Given the description of an element on the screen output the (x, y) to click on. 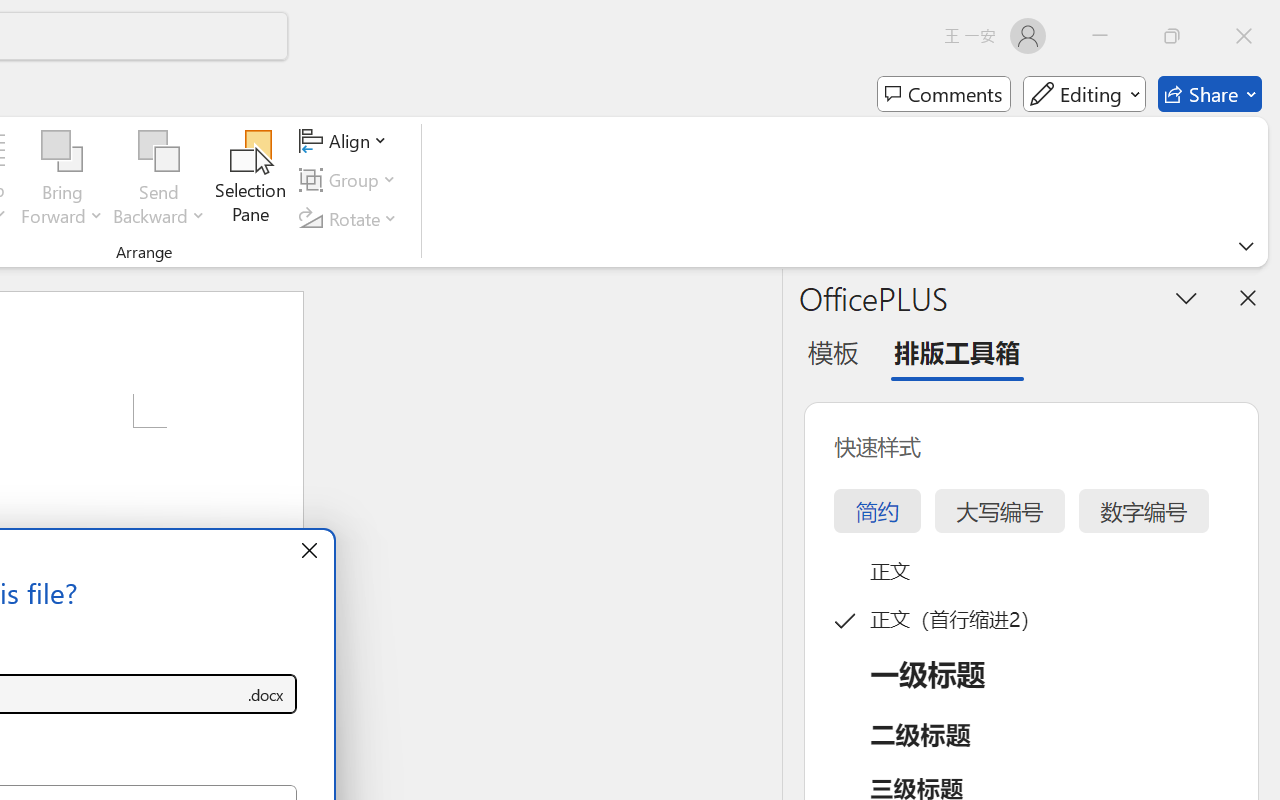
Bring Forward (62, 151)
Rotate (351, 218)
Send Backward (159, 151)
Align (346, 141)
Group (351, 179)
